Given the description of an element on the screen output the (x, y) to click on. 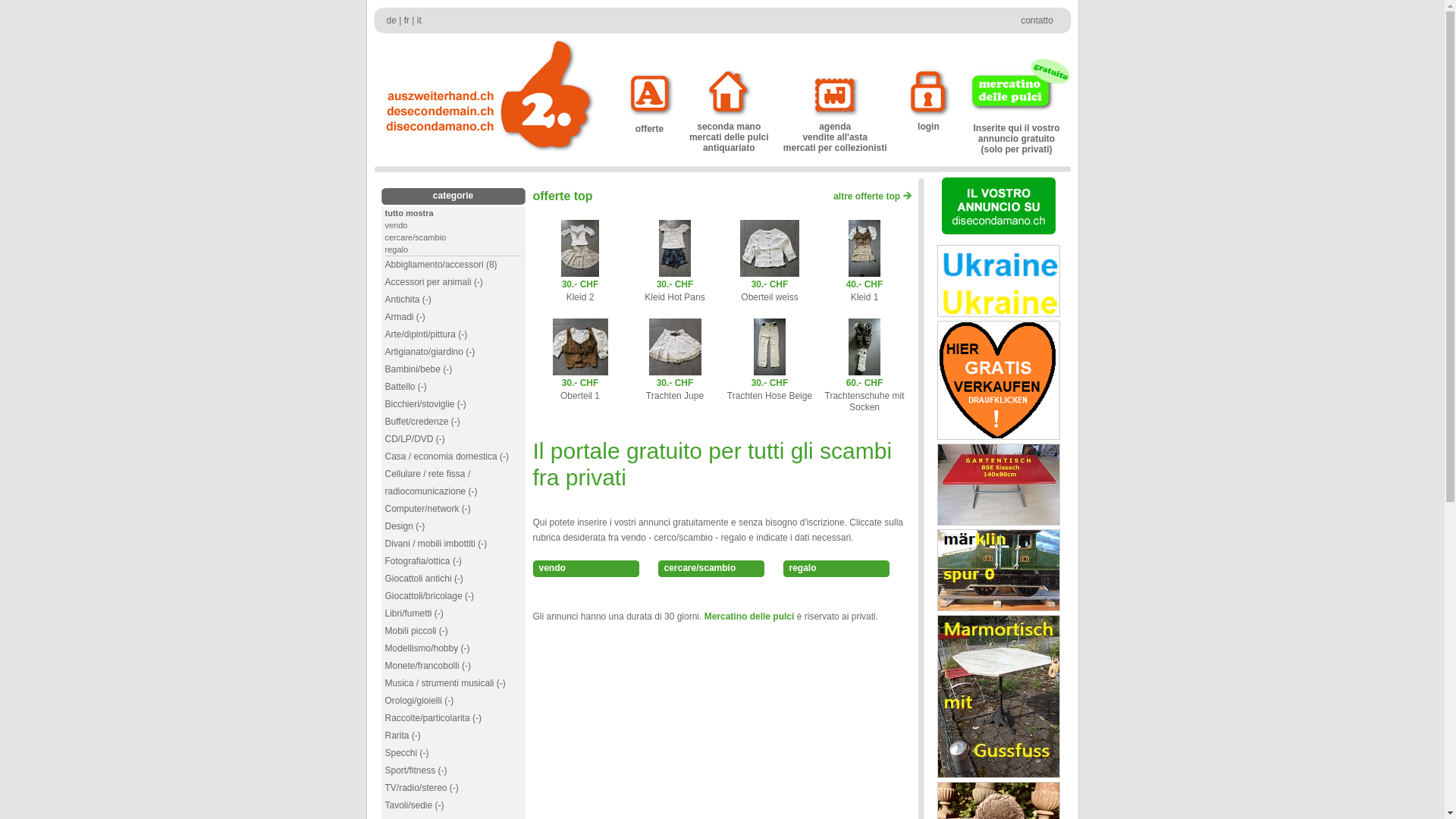
Casa / economia domestica (-) Element type: text (446, 456)
Buffet/credenze (-) Element type: text (422, 421)
cercare/scambio Element type: text (711, 568)
Mobili piccoli (-) Element type: text (416, 630)
Orologi/gioielli (-) Element type: text (419, 700)
30.- CHF
Kleid Hot Pans Element type: text (674, 285)
it Element type: text (419, 20)
Divani / mobili imbottiti (-) Element type: text (436, 543)
seconda mano
mercati delle pulci
antiquariato Element type: text (728, 132)
TV/radio/stereo (-) Element type: text (421, 787)
60.- CHF
Trachtenschuhe mit Socken Element type: text (864, 389)
CD/LP/DVD (-) Element type: text (415, 438)
altre offerte top Element type: text (872, 196)
40.- CHF
Kleid 1 Element type: text (864, 285)
Specchi (-) Element type: text (407, 752)
vendo Element type: text (585, 568)
Modellismo/hobby (-) Element type: text (427, 648)
Giocattoli antichi (-) Element type: text (424, 578)
tutto mostra Element type: text (409, 212)
Bicchieri/stoviglie (-) Element type: text (425, 403)
Raccolte/particolarita (-) Element type: text (433, 717)
regalo Element type: text (835, 568)
Artigianato/giardino (-) Element type: text (430, 351)
Armadi (-) Element type: text (405, 316)
30.- CHF
Trachten Hose Beige Element type: text (769, 384)
Cellulare / rete fissa / radiocomunicazione (-) Element type: text (431, 482)
Abbigliamento/accessori (8) Element type: text (441, 264)
Monete/francobolli (-) Element type: text (427, 665)
offerte Element type: text (649, 123)
Design (-) Element type: text (405, 525)
30.- CHF
Kleid 2 Element type: text (580, 285)
Libri/fumetti (-) Element type: text (414, 613)
contatto Element type: text (1036, 20)
Giocattoli/bricolage (-) Element type: text (429, 595)
regalo Element type: text (396, 249)
Bambini/bebe (-) Element type: text (418, 369)
vendo Element type: text (396, 224)
Musica / strumenti musicali (-) Element type: text (445, 682)
30.- CHF
Trachten Jupe Element type: text (674, 384)
Tavoli/sedie (-) Element type: text (414, 805)
fr Element type: text (406, 20)
Fotografia/ottica (-) Element type: text (423, 560)
30.- CHF
Oberteil 1 Element type: text (579, 384)
cercare/scambio Element type: text (415, 236)
Accessori per animali (-) Element type: text (434, 281)
de Element type: text (391, 20)
Sport/fitness (-) Element type: text (416, 770)
Antichita (-) Element type: text (408, 299)
Inserite qui il vostro
annuncio gratuito
(solo per privati) Element type: text (1015, 134)
Rarita (-) Element type: text (402, 735)
Arte/dipinti/pittura (-) Element type: text (426, 334)
Battello (-) Element type: text (405, 386)
agenda
vendite all'asta
mercati per collezionisti Element type: text (835, 132)
30.- CHF
Oberteil weiss Element type: text (769, 285)
login Element type: text (928, 121)
Computer/network (-) Element type: text (427, 508)
